Given the description of an element on the screen output the (x, y) to click on. 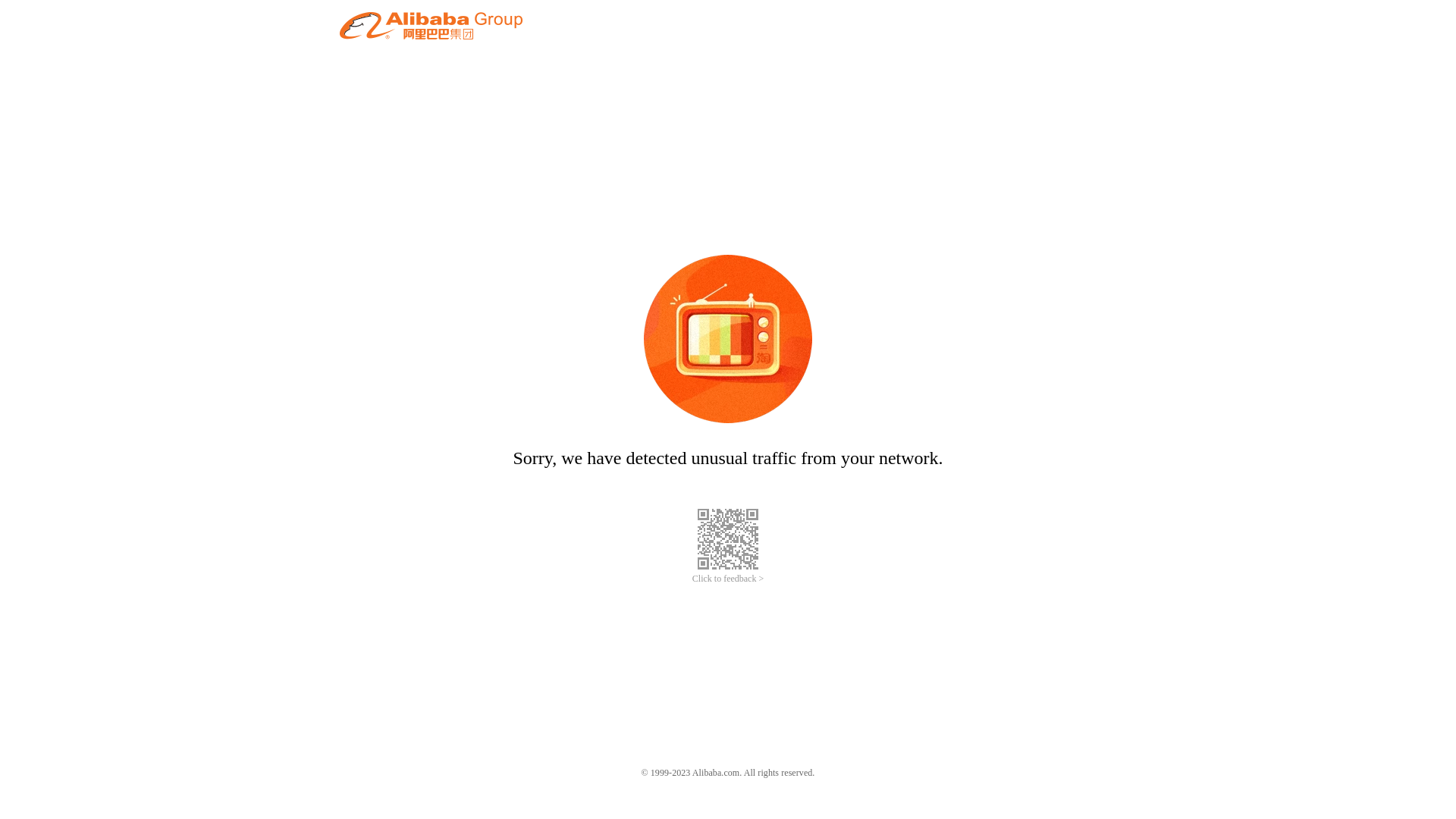
Click to feedback > Element type: text (727, 578)
